Given the description of an element on the screen output the (x, y) to click on. 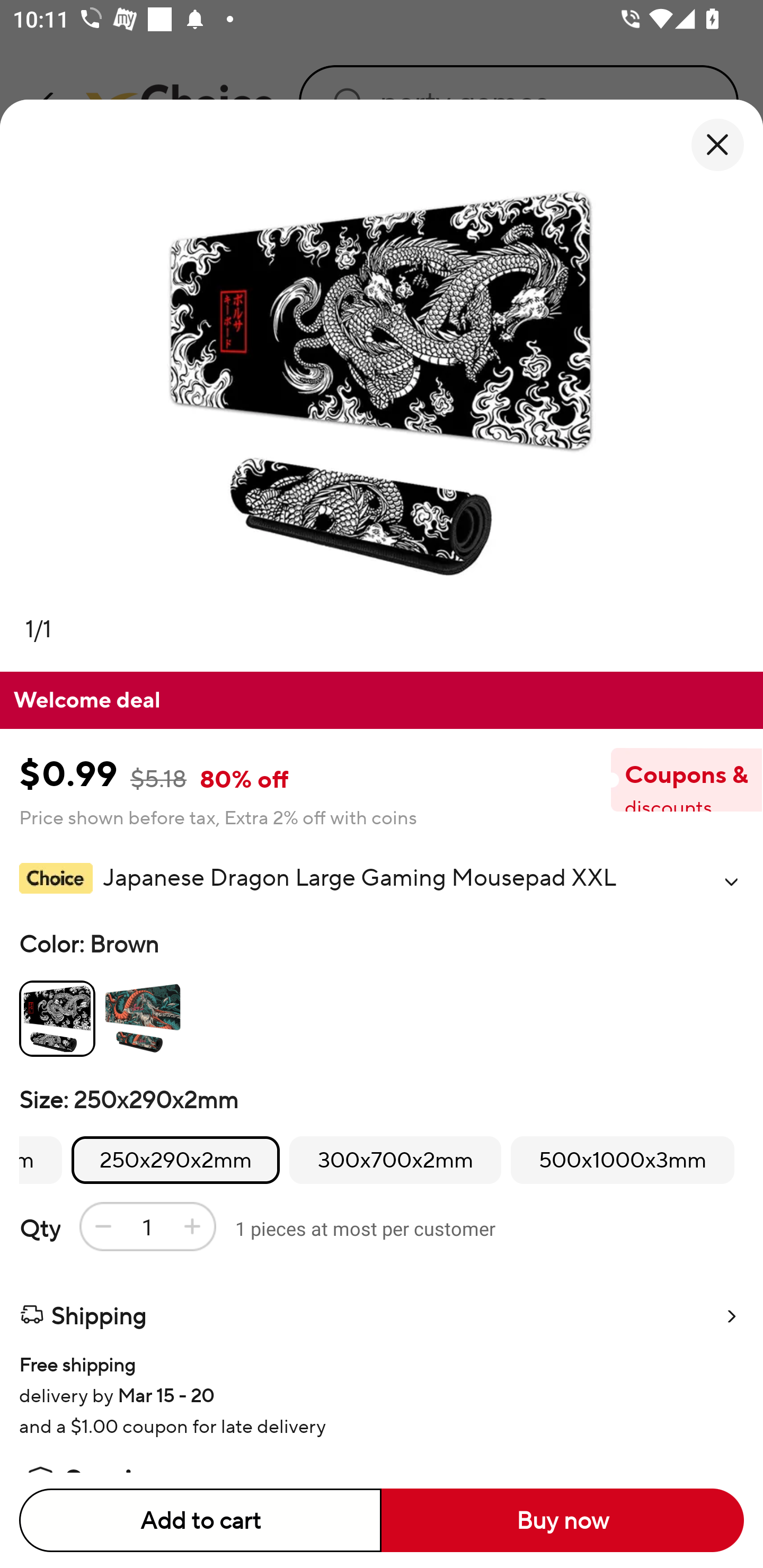
close  (717, 144)
 (730, 881)
250x290x2mm (175, 1159)
300x700x2mm (395, 1159)
500x1000x3mm (622, 1159)
Add to cart (200, 1520)
Buy now (562, 1520)
